Given the description of an element on the screen output the (x, y) to click on. 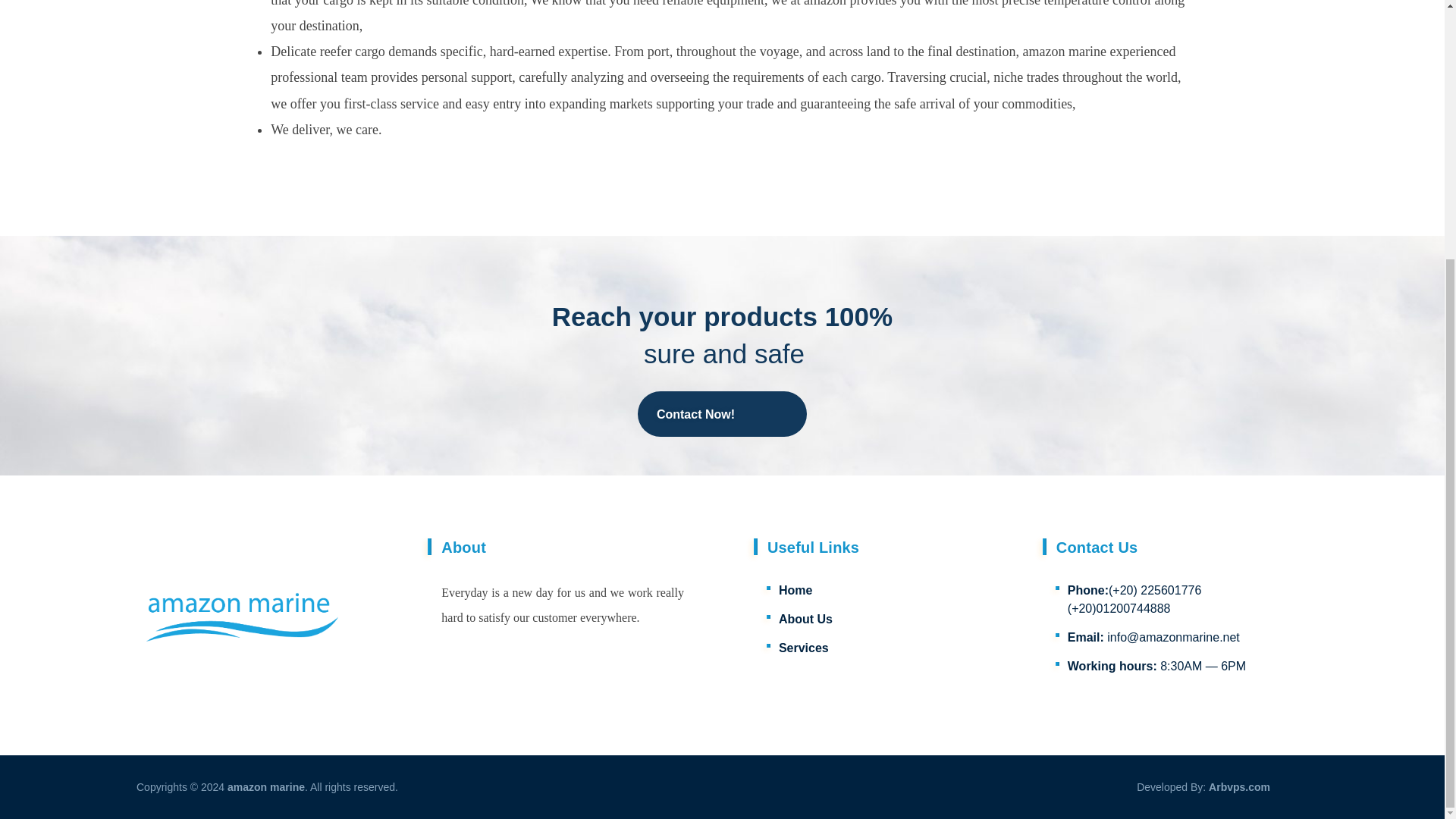
Contact Now! (721, 413)
About Us (807, 621)
Services (805, 650)
